Given the description of an element on the screen output the (x, y) to click on. 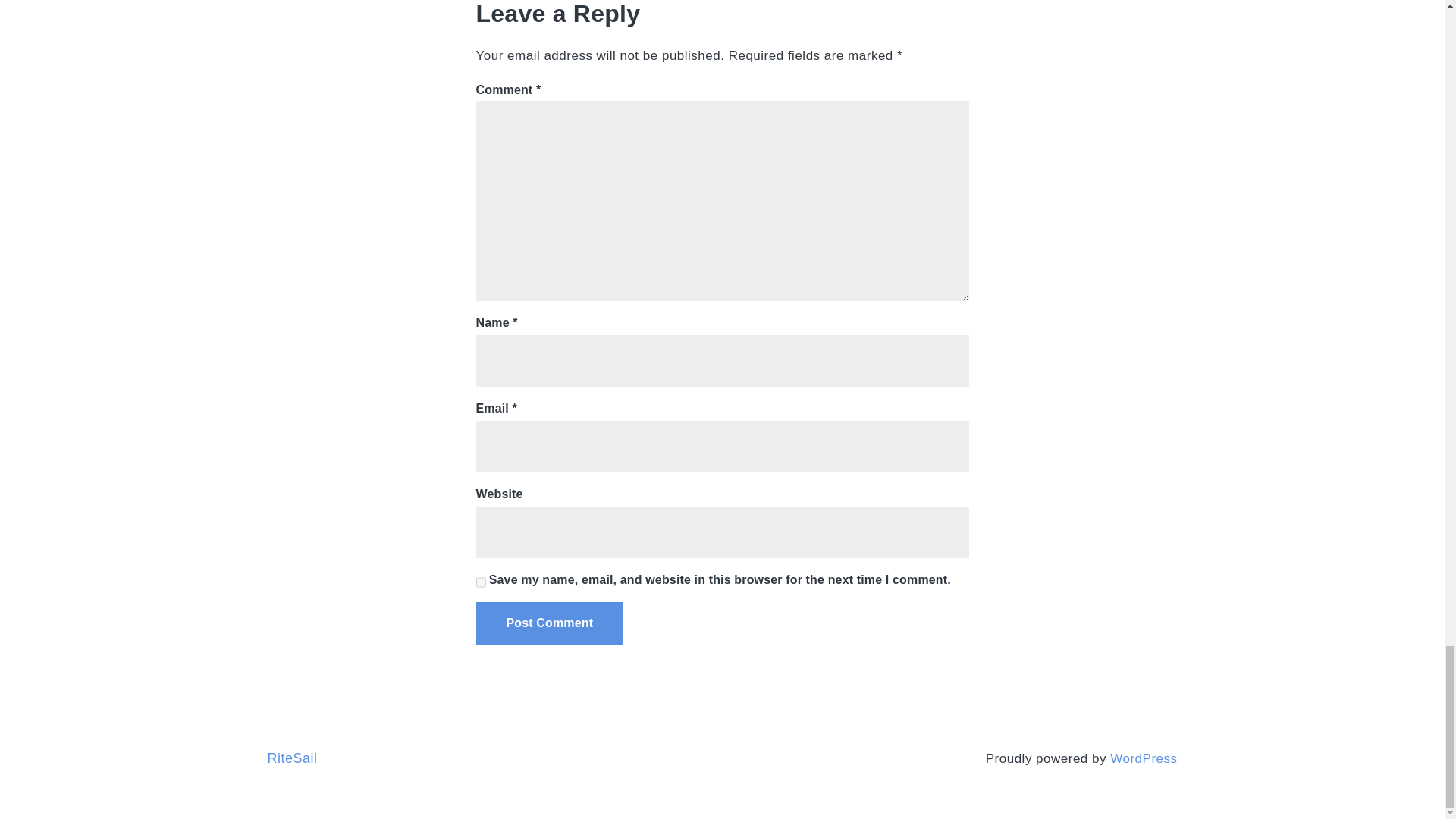
Post Comment (550, 622)
Post Comment (550, 622)
WordPress (1142, 758)
RiteSail (291, 758)
